Given the description of an element on the screen output the (x, y) to click on. 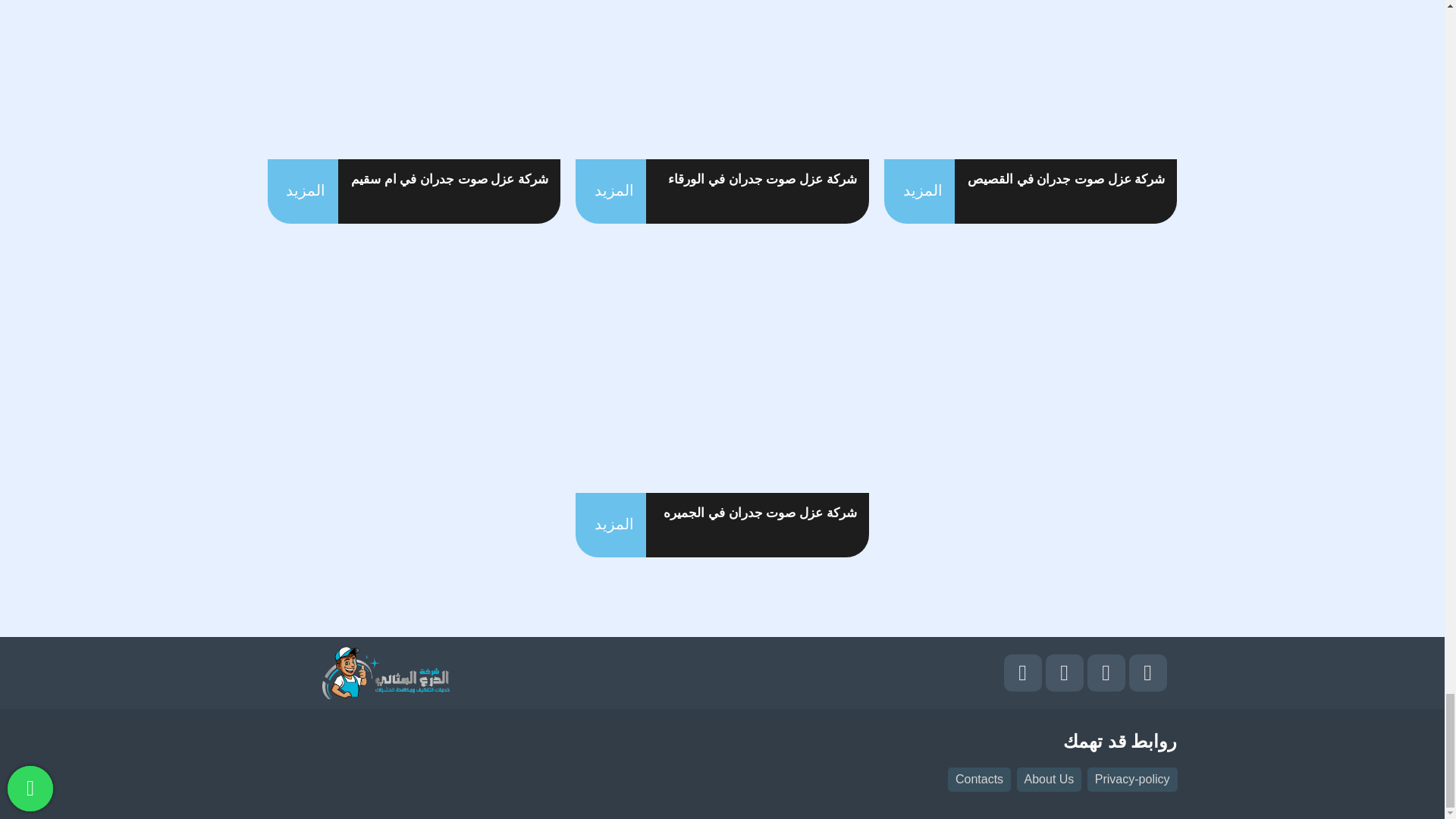
Ideal Shield Services Company (384, 672)
